Given the description of an element on the screen output the (x, y) to click on. 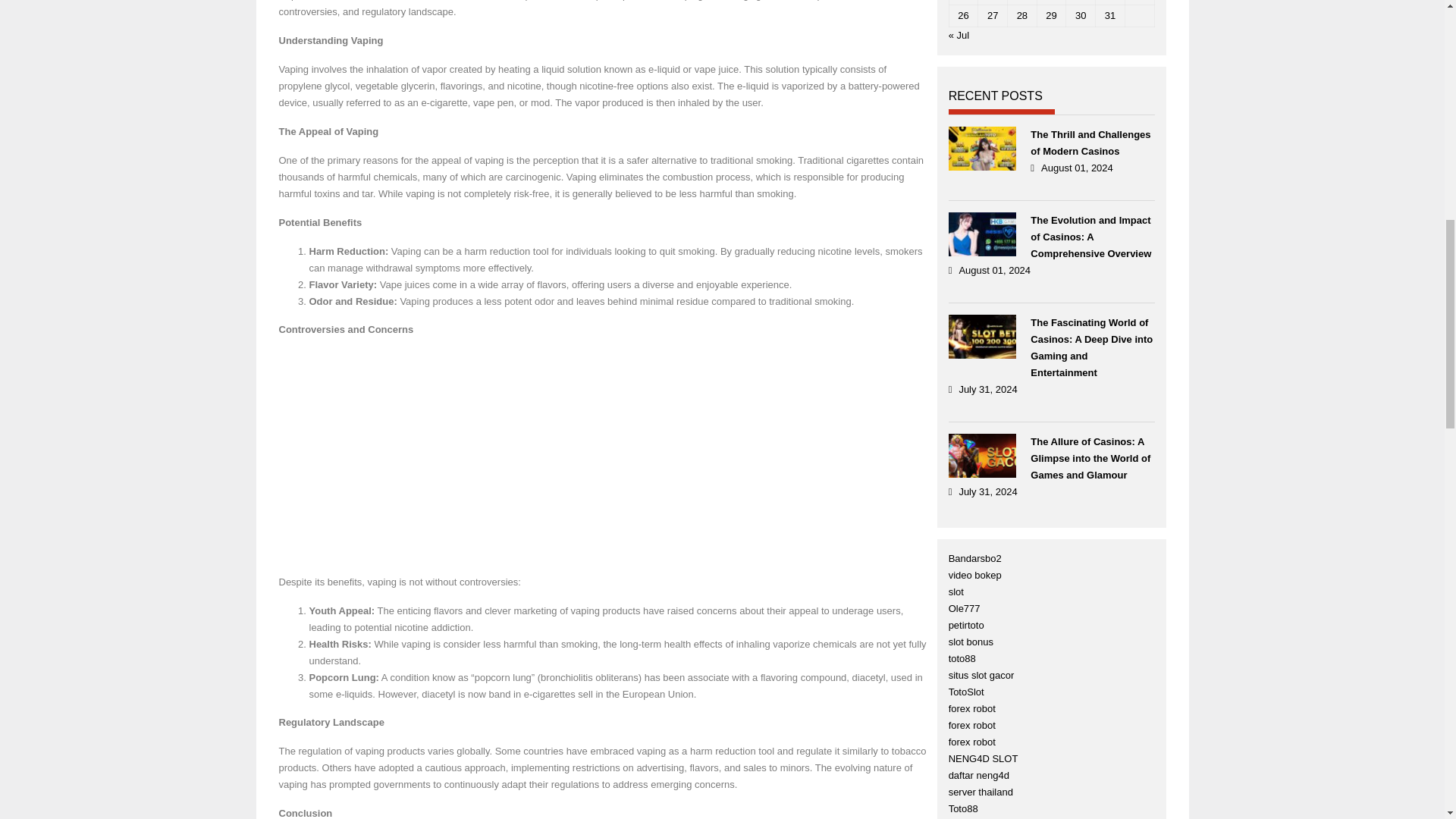
The Thrill and Challenges of Modern Casinos (1092, 142)
